Given the description of an element on the screen output the (x, y) to click on. 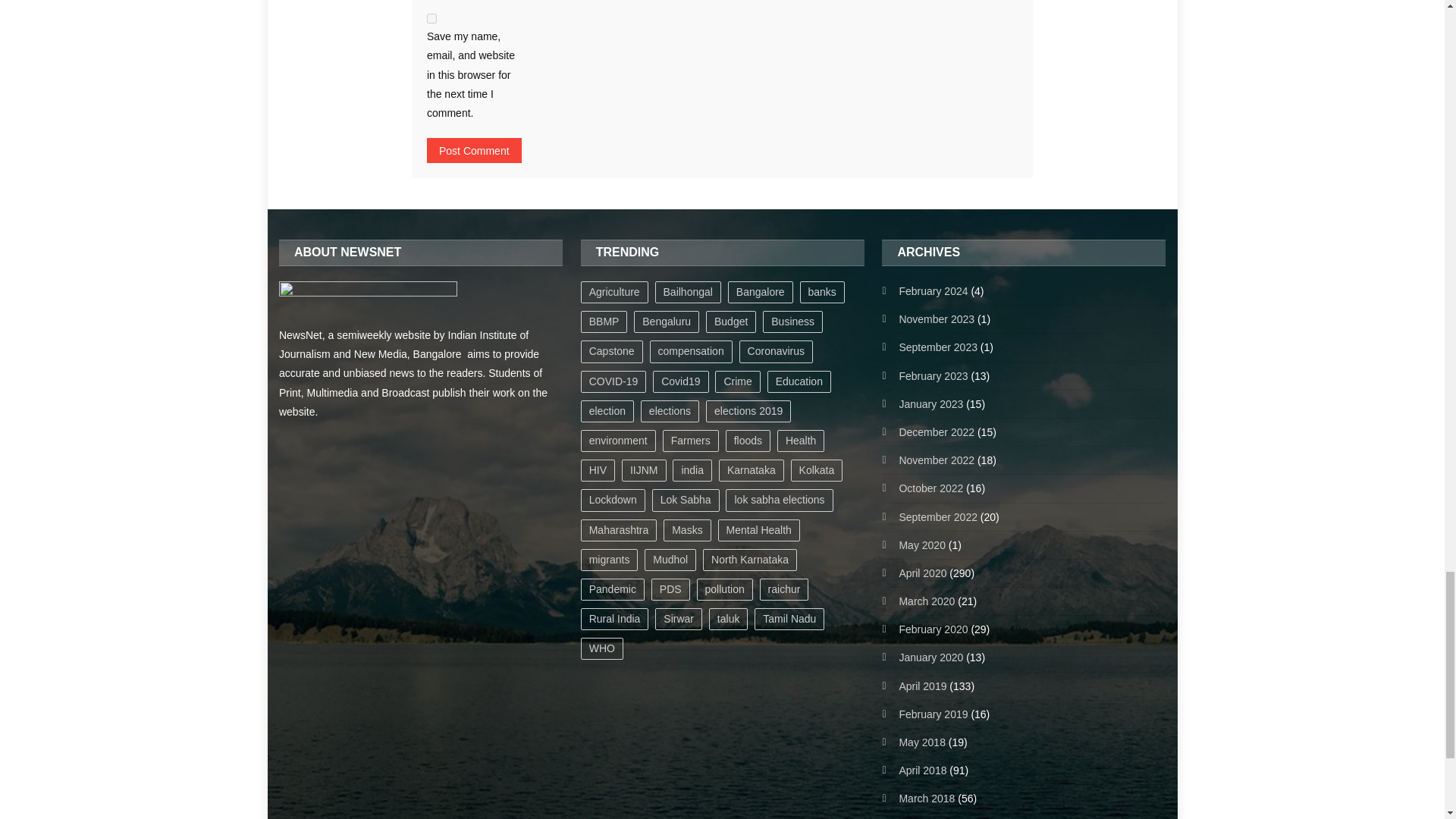
Post Comment (473, 150)
yes (431, 18)
